Given the description of an element on the screen output the (x, y) to click on. 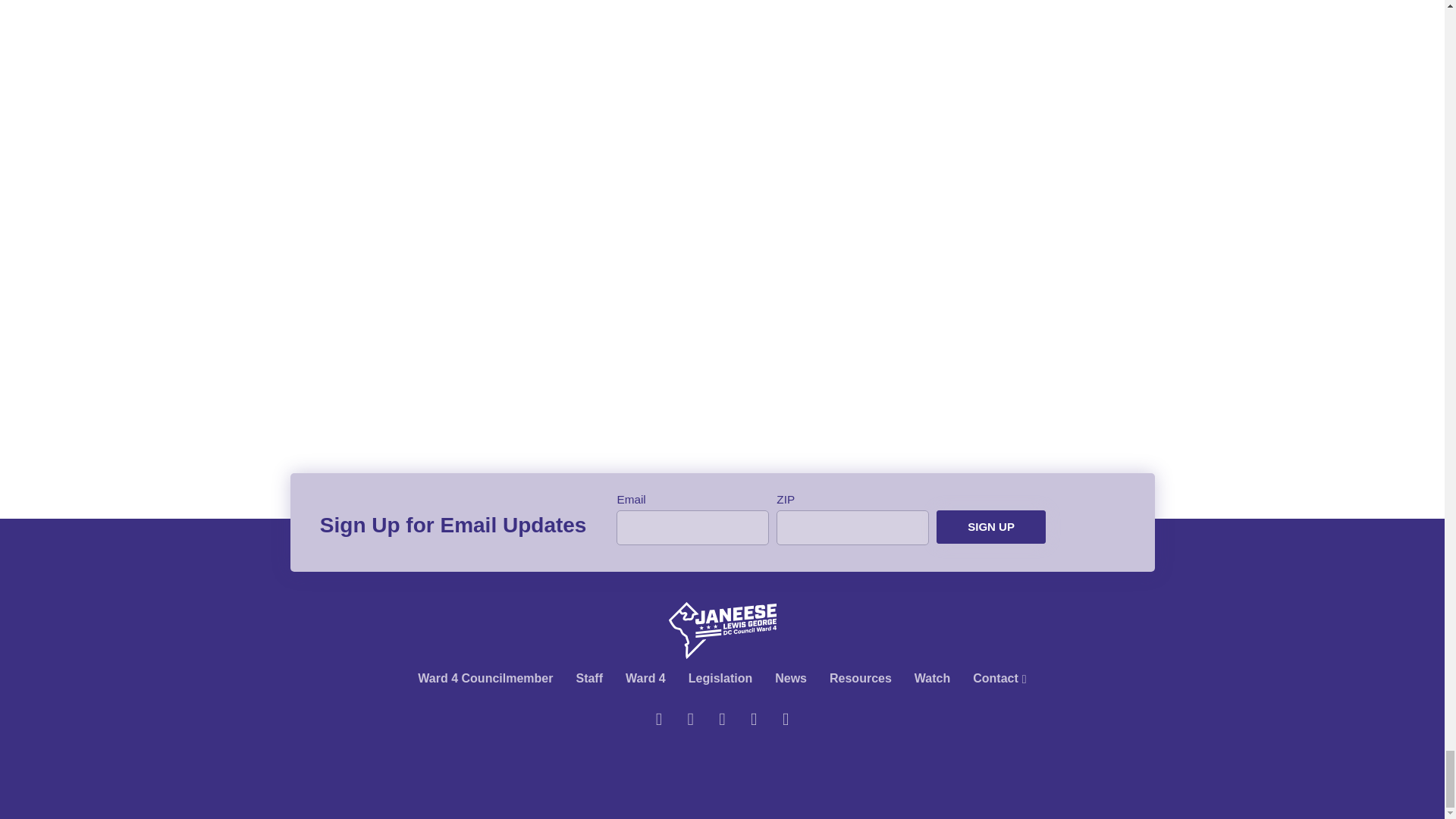
Sign Up (990, 527)
